Given the description of an element on the screen output the (x, y) to click on. 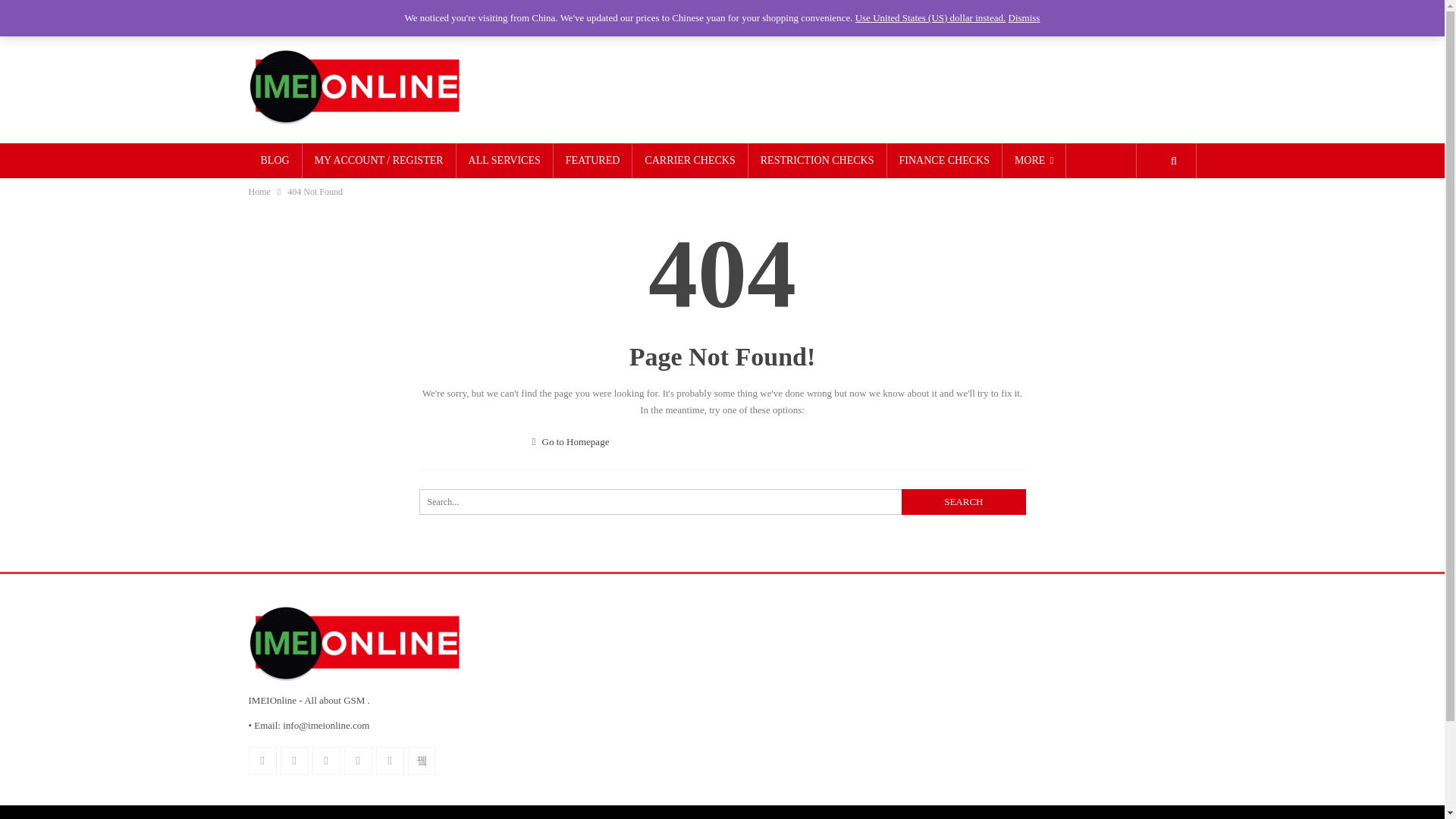
Search (963, 501)
Dismiss (1025, 17)
Search (963, 501)
FINANCE CHECKS (943, 160)
MORE (1034, 160)
Privacy Policy (406, 14)
Home (259, 191)
Go to Homepage (571, 441)
Search (963, 501)
RESTRICTION CHECKS (817, 160)
